Given the description of an element on the screen output the (x, y) to click on. 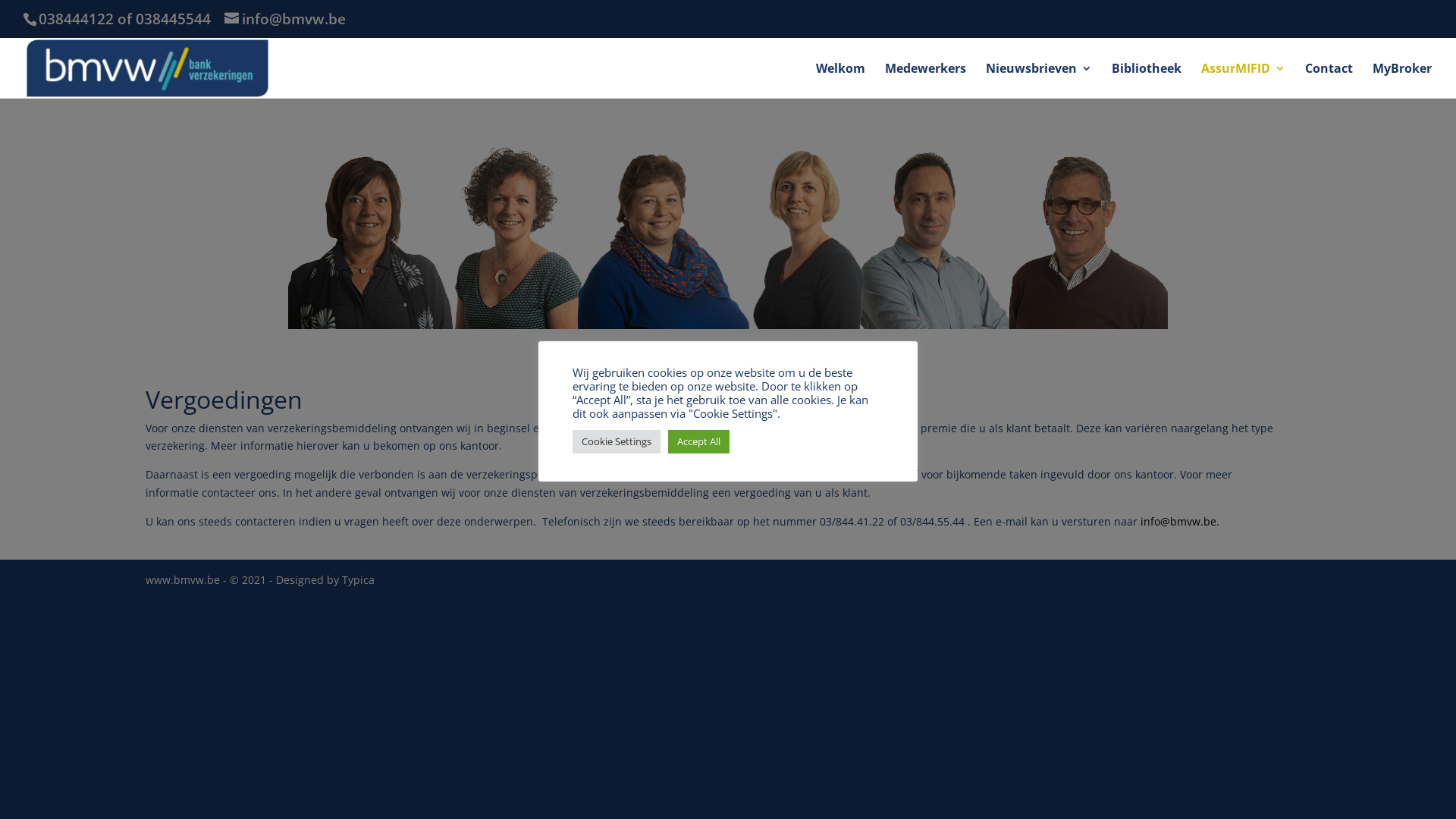
Bibliotheek Element type: text (1146, 79)
Nieuwsbrieven Element type: text (1038, 79)
info@bmvw.be Element type: text (284, 18)
2021-07 - BMVW - Banner medewerkers kantoor - 4 Element type: hover (727, 228)
Medewerkers Element type: text (925, 79)
MyBroker Element type: text (1401, 79)
Welkom Element type: text (840, 79)
info@bmvw.be Element type: text (1178, 521)
Cookie Settings Element type: text (616, 440)
Accept All Element type: text (698, 440)
AssurMIFID Element type: text (1243, 79)
Contact Element type: text (1328, 79)
